Given the description of an element on the screen output the (x, y) to click on. 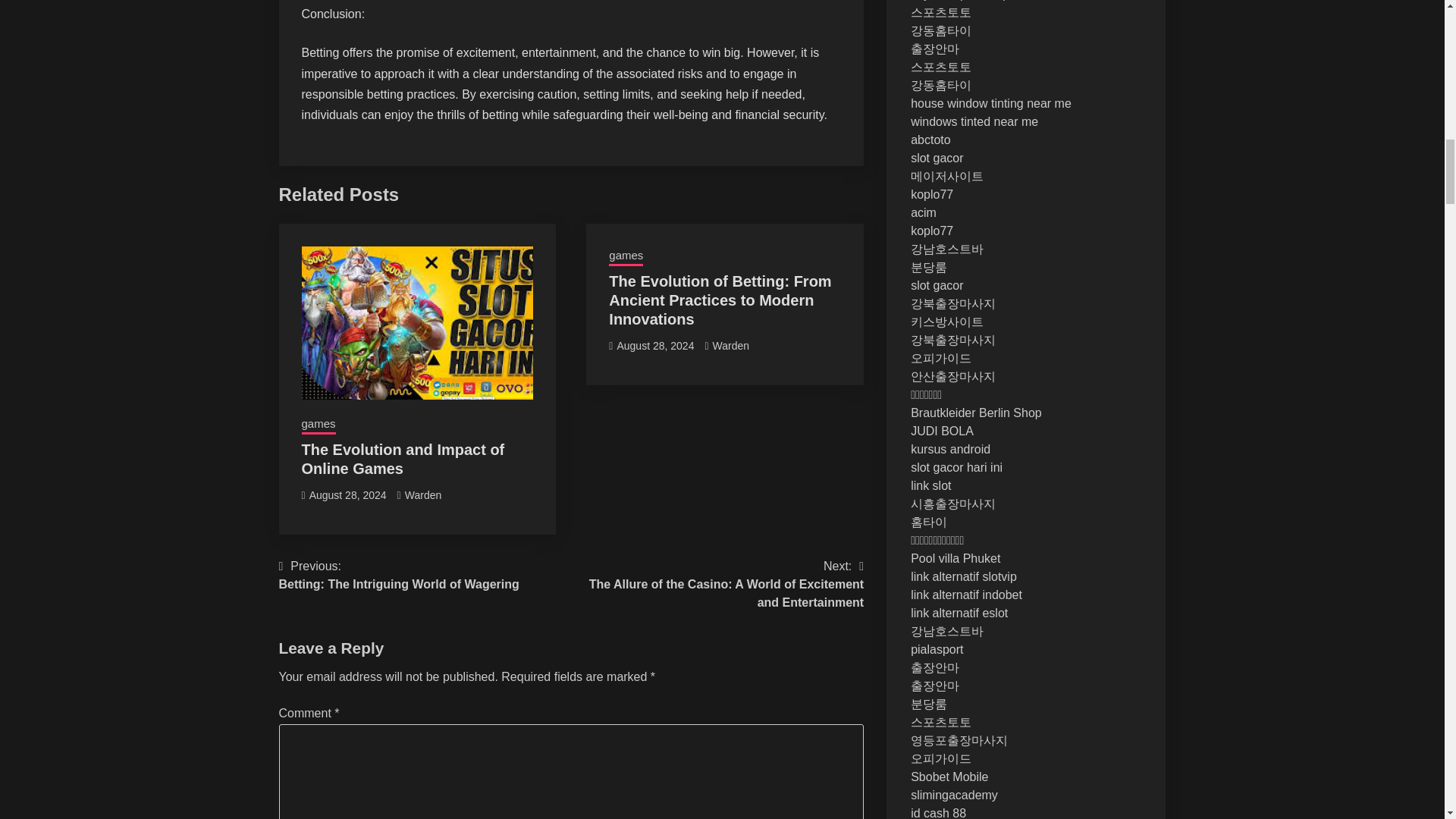
August 28, 2024 (654, 345)
Warden (423, 494)
games (625, 256)
Warden (731, 345)
games (318, 424)
August 28, 2024 (347, 494)
The Evolution and Impact of Online Games (399, 575)
